Given the description of an element on the screen output the (x, y) to click on. 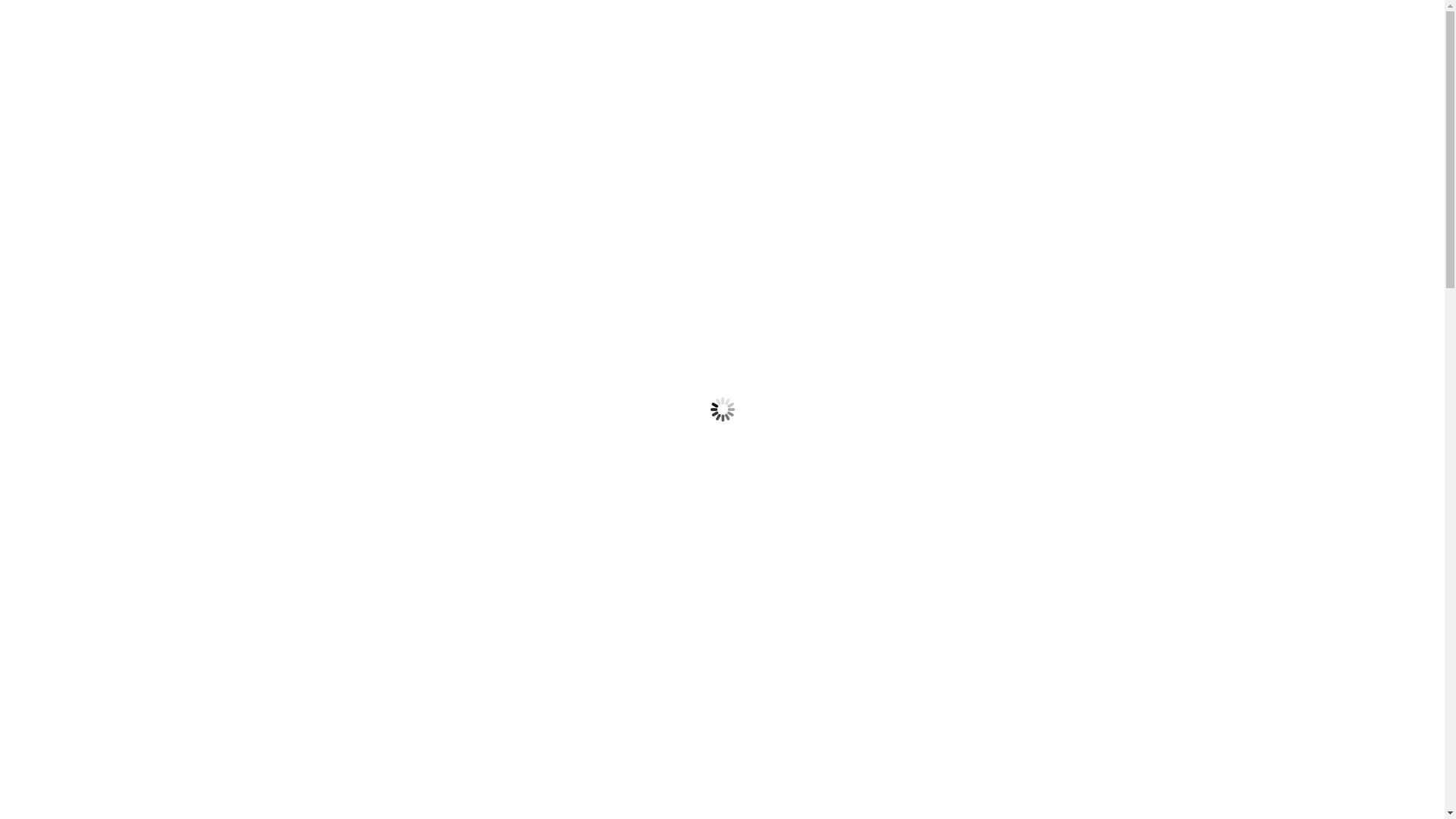
All Showbags Element type: text (994, 431)
Confectionery Range Element type: text (1013, 529)
Mother's Day/Father's Day Gifts Element type: text (1042, 596)
Showbags, Gifts, Party & Balloons Element type: text (498, 223)
Christmas Range Element type: text (1004, 497)
Testimonials Element type: text (725, 223)
About us Element type: text (926, 223)
Back to top Element type: hover (1200, 769)
Best Selling Element type: text (990, 464)
Grade 4 + Element type: text (985, 792)
sales@mrshowbags.com.au Element type: text (819, 22)
Party/Balloons Element type: text (998, 629)
Contact us Element type: text (1044, 223)
FAQ Element type: text (832, 223)
Lootbags Element type: text (984, 563)
0 Element type: text (1110, 83)
Home Element type: text (304, 298)
Gifts Element type: text (973, 758)
Christmas Element type: text (987, 725)
0397764644 Element type: text (550, 22)
All Products Element type: text (991, 397)
